Given the description of an element on the screen output the (x, y) to click on. 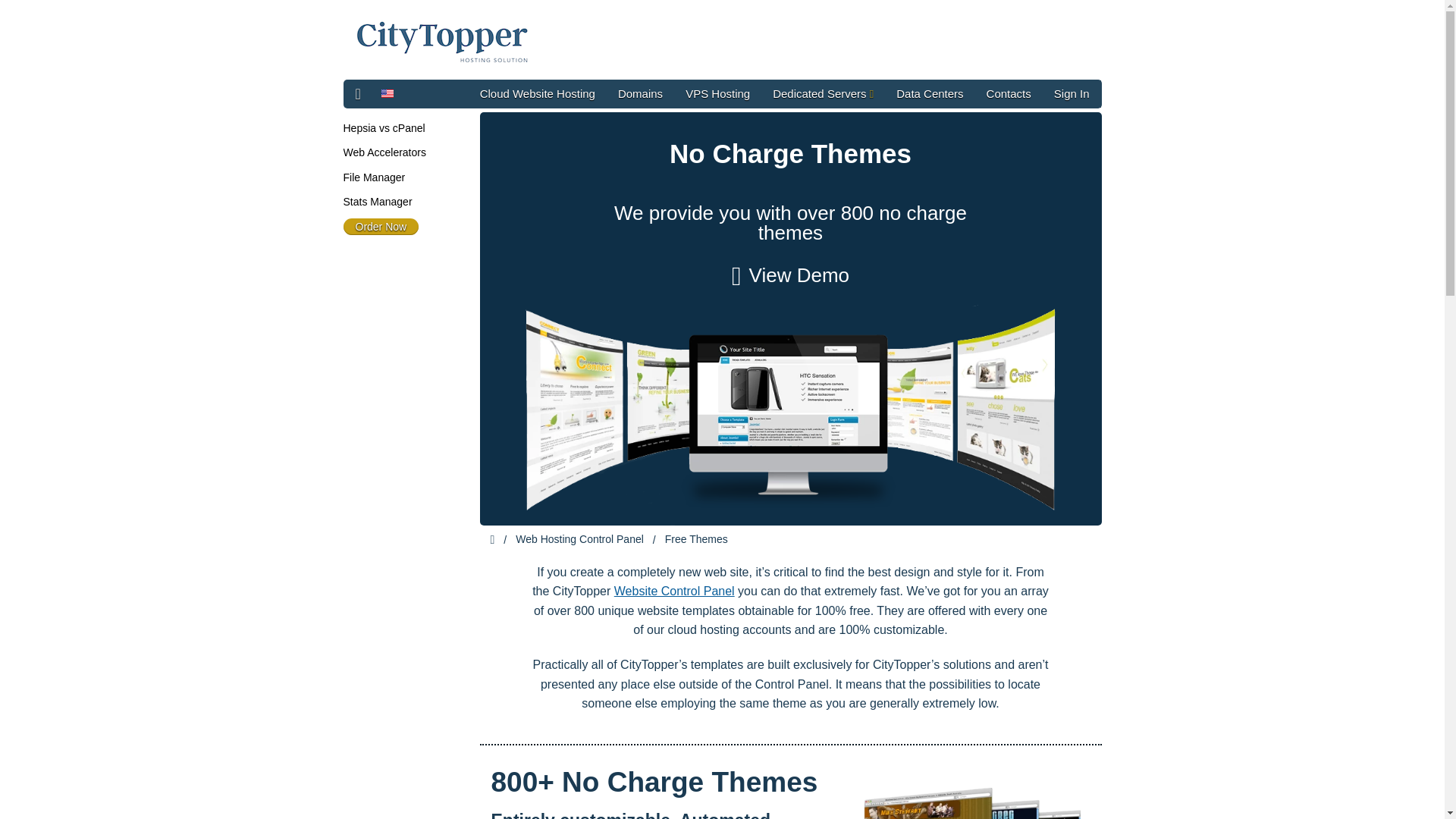
Data Centers (929, 93)
View Demo (790, 276)
Contacts (1008, 93)
Website Control Panel (674, 590)
CityTopper (442, 41)
Web Hosting Control Panel (579, 539)
File Manager (373, 177)
Website Control Panel (674, 590)
VPS Hosting (717, 93)
Dedicated Servers (823, 93)
Sign In (1071, 93)
Free Website Themes (971, 789)
Cloud Website Hosting (537, 93)
Web Accelerators (383, 152)
Domains (640, 93)
